Given the description of an element on the screen output the (x, y) to click on. 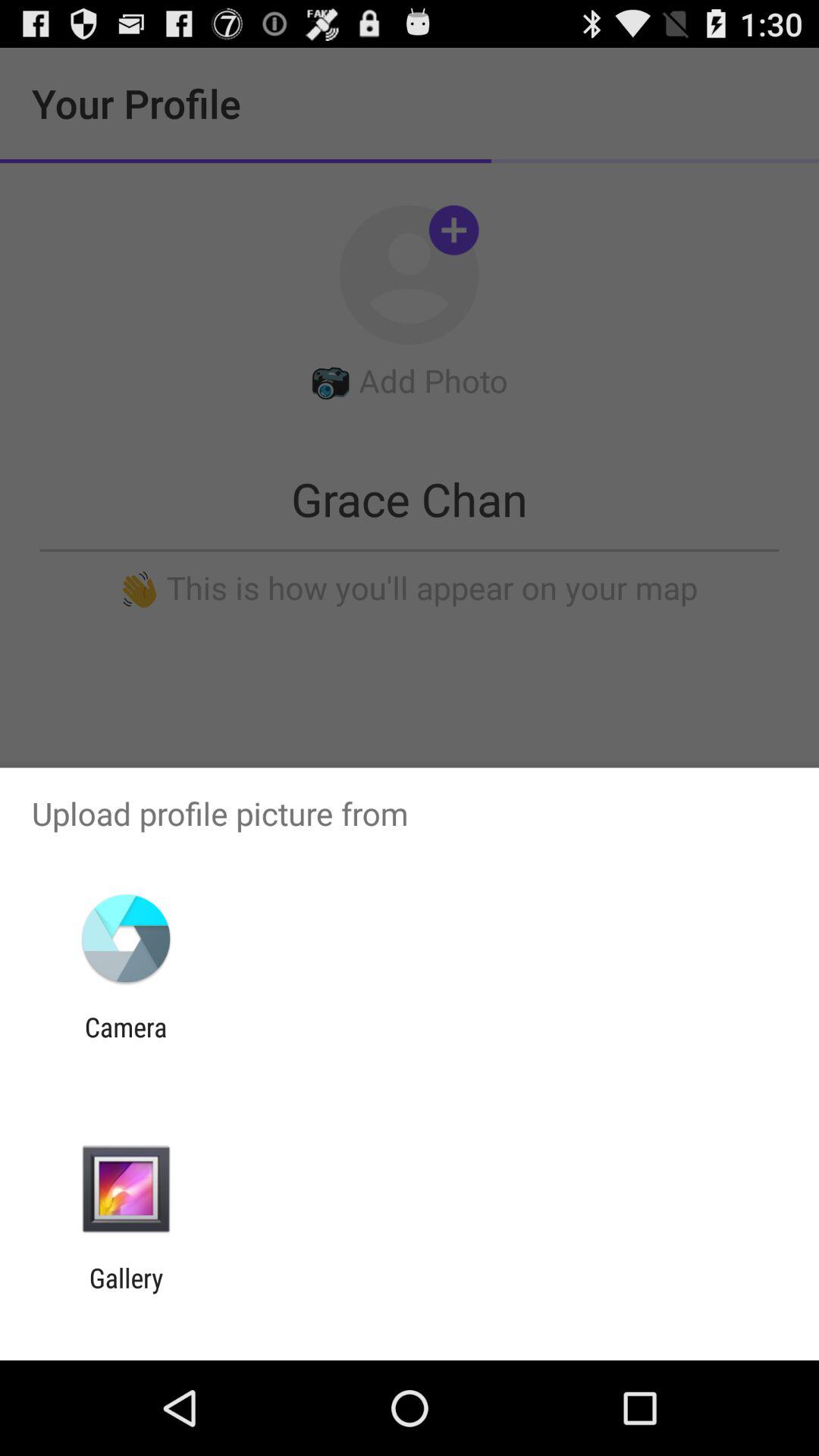
scroll to gallery (126, 1293)
